Given the description of an element on the screen output the (x, y) to click on. 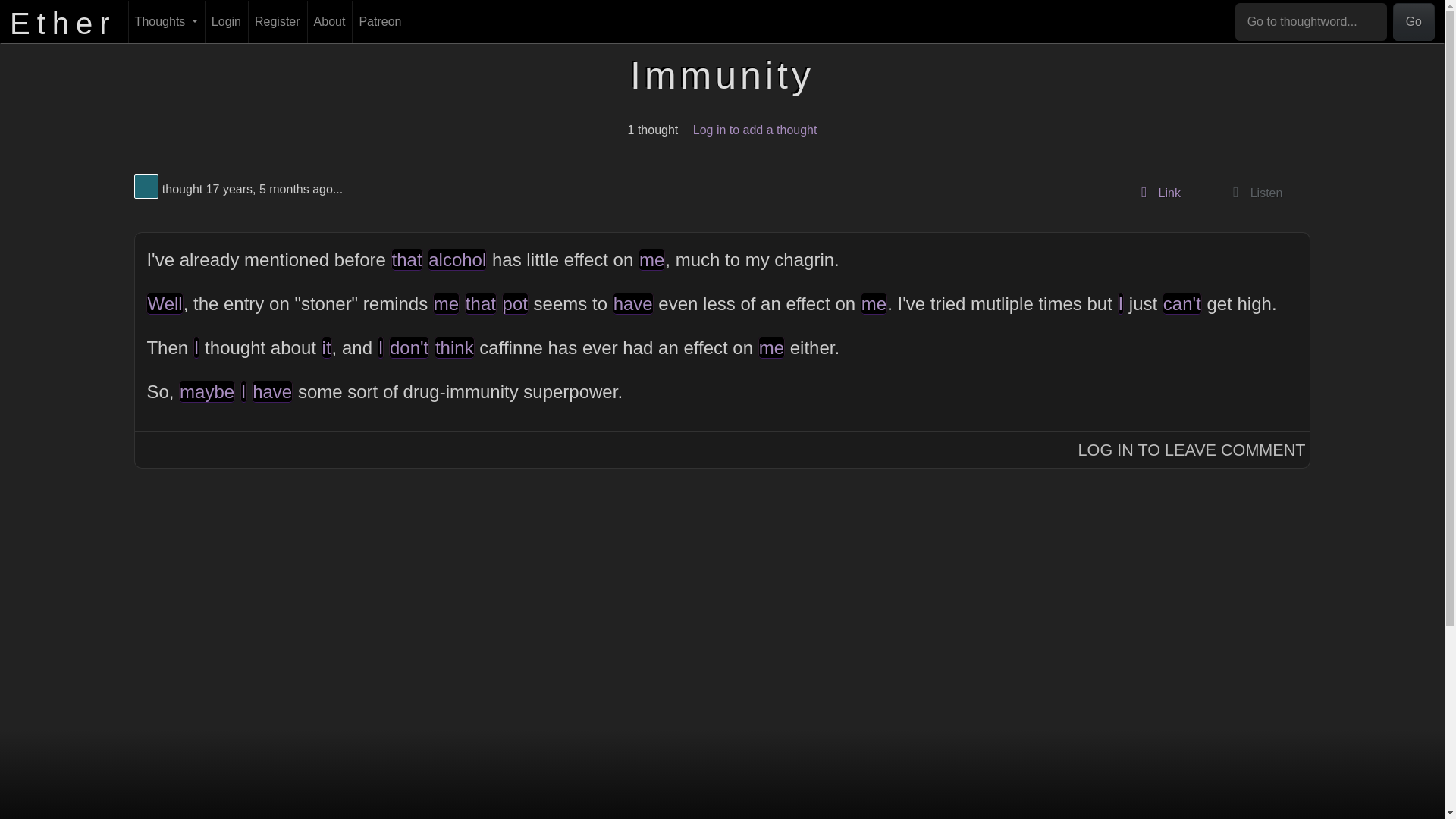
that (480, 303)
pot (515, 303)
can't (1181, 303)
me (446, 303)
don't (408, 347)
Listen (1253, 193)
I (380, 347)
that (407, 259)
me (771, 347)
Thoughts (166, 21)
me (652, 259)
Log in to add a thought (754, 129)
maybe (206, 391)
Go (1413, 21)
Login (226, 21)
